Given the description of an element on the screen output the (x, y) to click on. 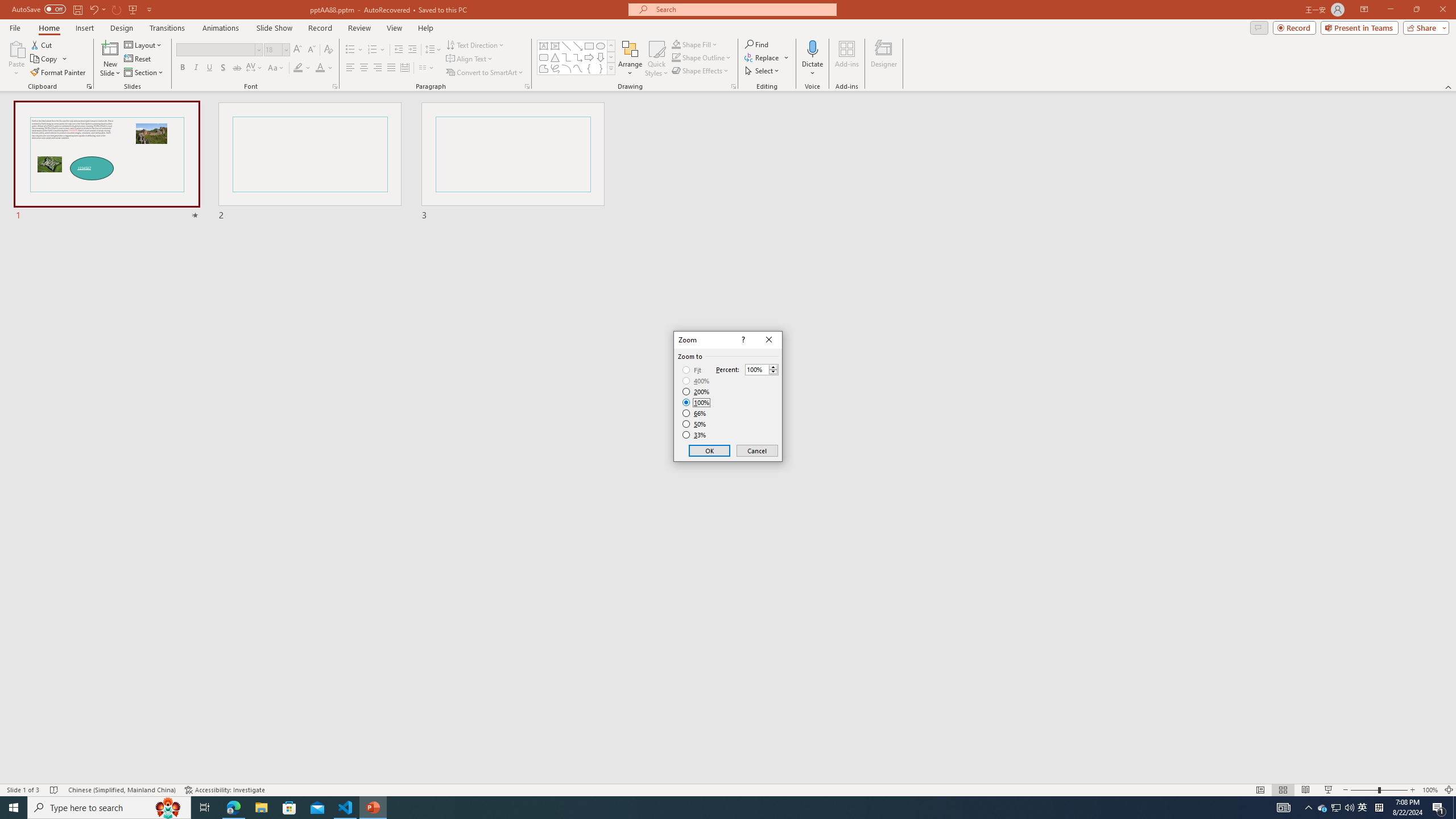
200% (696, 391)
Zoom 100% (1430, 790)
